Given the description of an element on the screen output the (x, y) to click on. 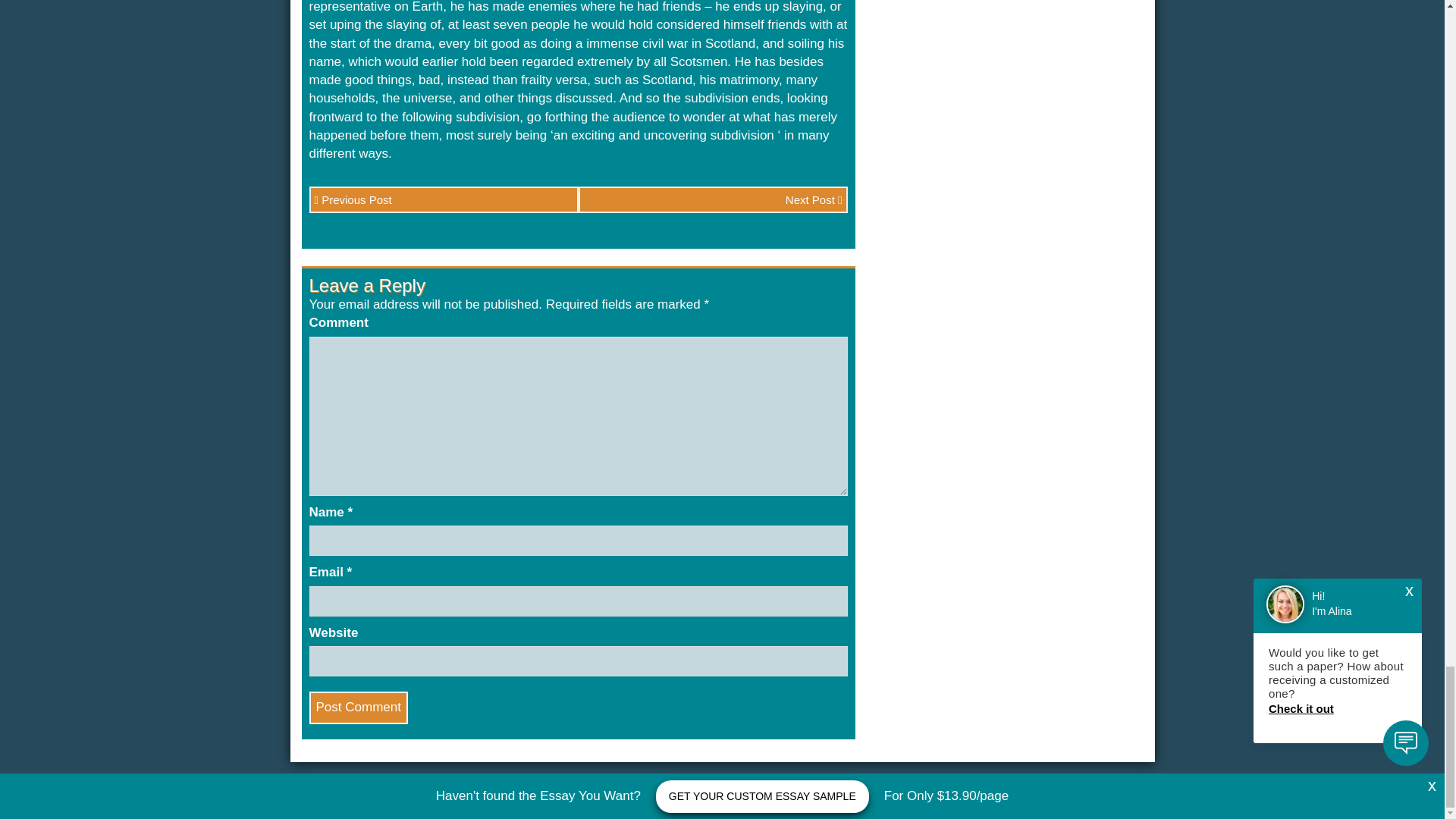
Next Post (712, 199)
Post Comment (357, 707)
WP3Layouts (1113, 802)
Post Comment (357, 707)
Previous Post (443, 199)
Stiff (1046, 802)
